Given the description of an element on the screen output the (x, y) to click on. 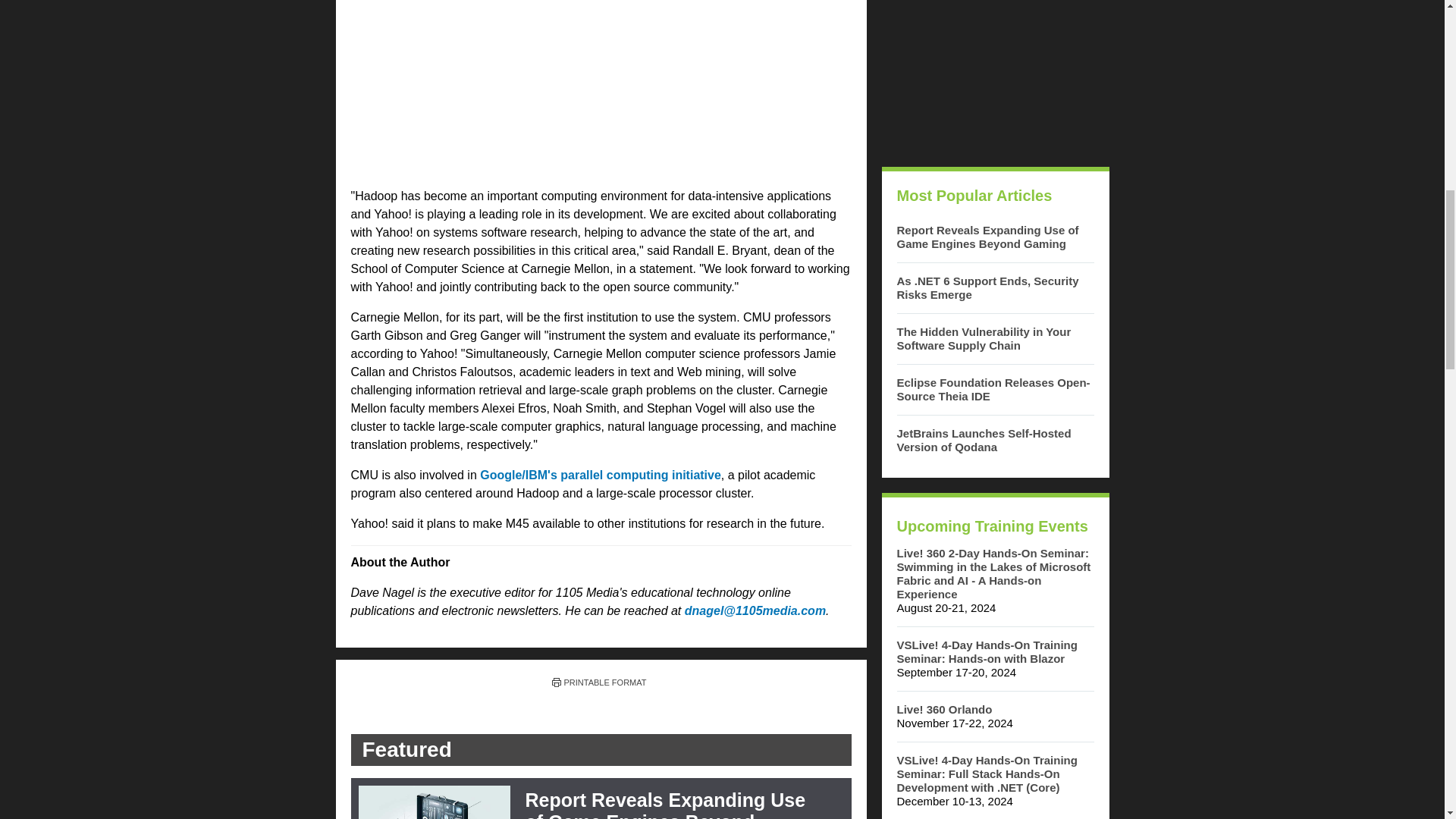
3rd party ad content (994, 75)
PRINTABLE FORMAT (598, 682)
3rd party ad content (600, 87)
